Given the description of an element on the screen output the (x, y) to click on. 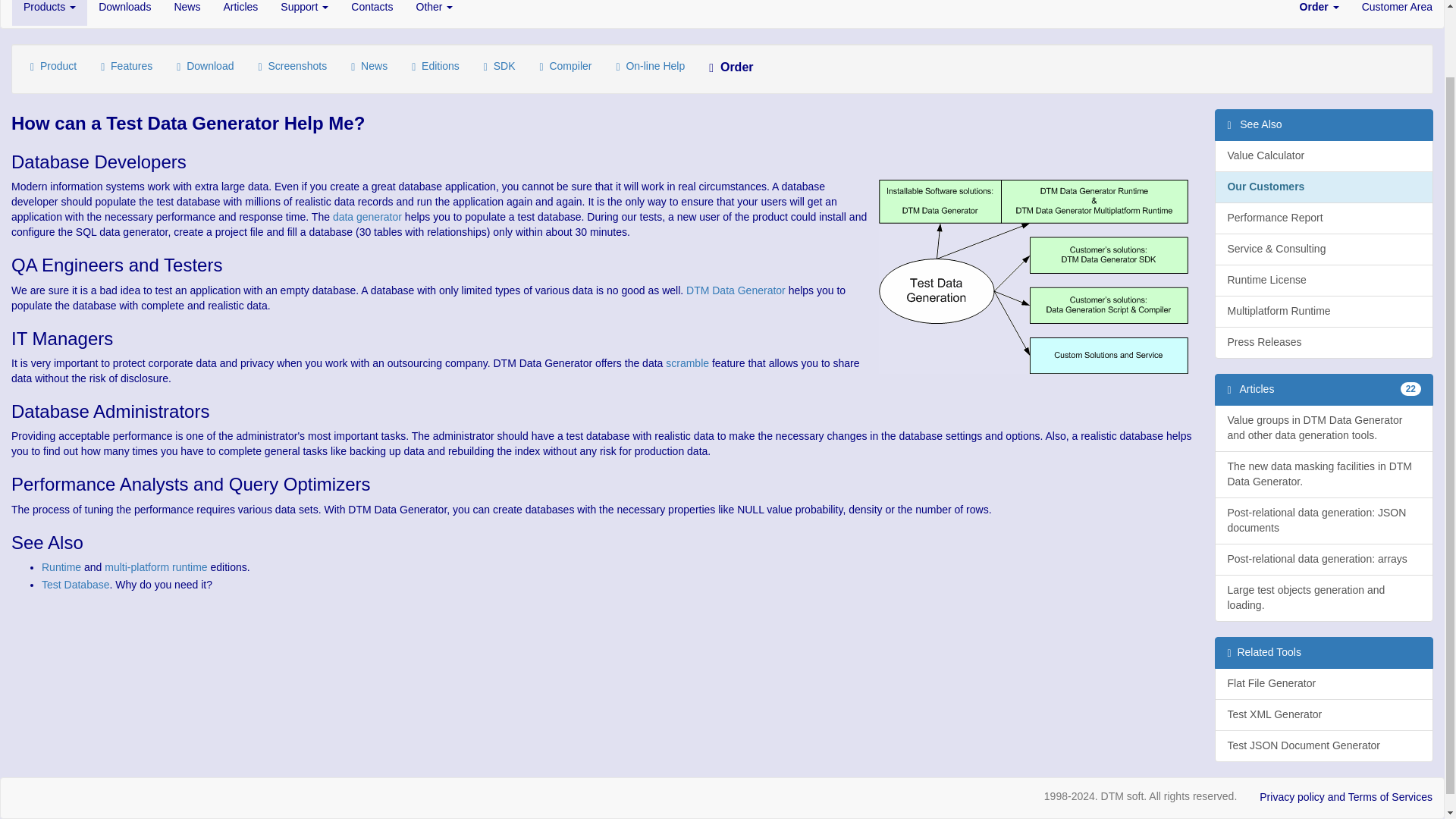
Contacts (371, 12)
Articles (240, 12)
Support (304, 12)
Other (434, 12)
Order (1319, 12)
Downloads (124, 12)
News (186, 12)
Products (49, 12)
Customer Area (1397, 12)
